Given the description of an element on the screen output the (x, y) to click on. 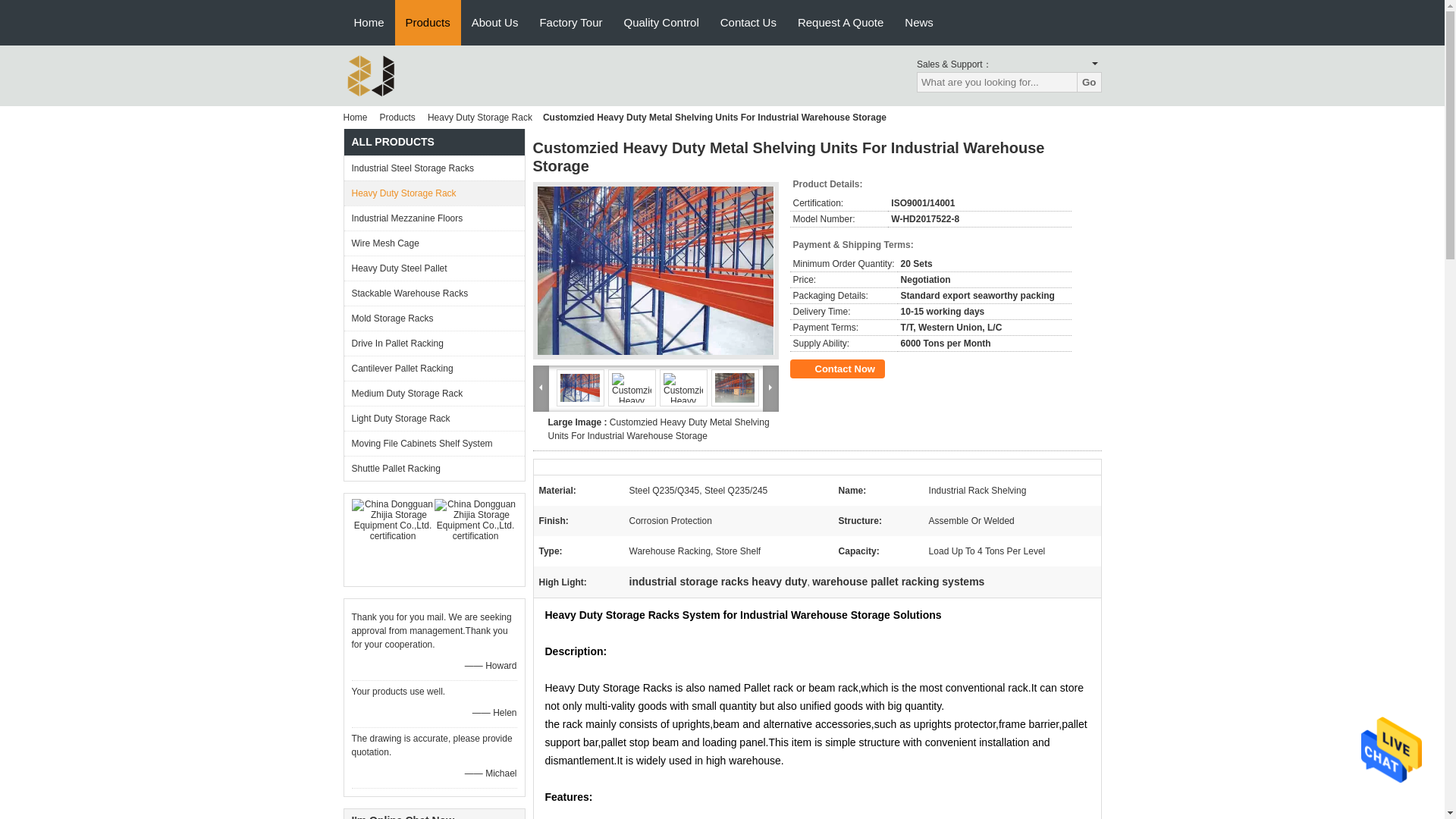
About Us (495, 22)
Wire Mesh Cage (433, 242)
Quality Control (661, 22)
Heavy Duty Storage Rack (480, 117)
News (918, 22)
Heavy Duty Storage Rack (433, 192)
Home (368, 22)
Heavy Duty Steel Pallet (433, 267)
Contact Us (748, 22)
Industrial Mezzanine Floors (433, 217)
